Given the description of an element on the screen output the (x, y) to click on. 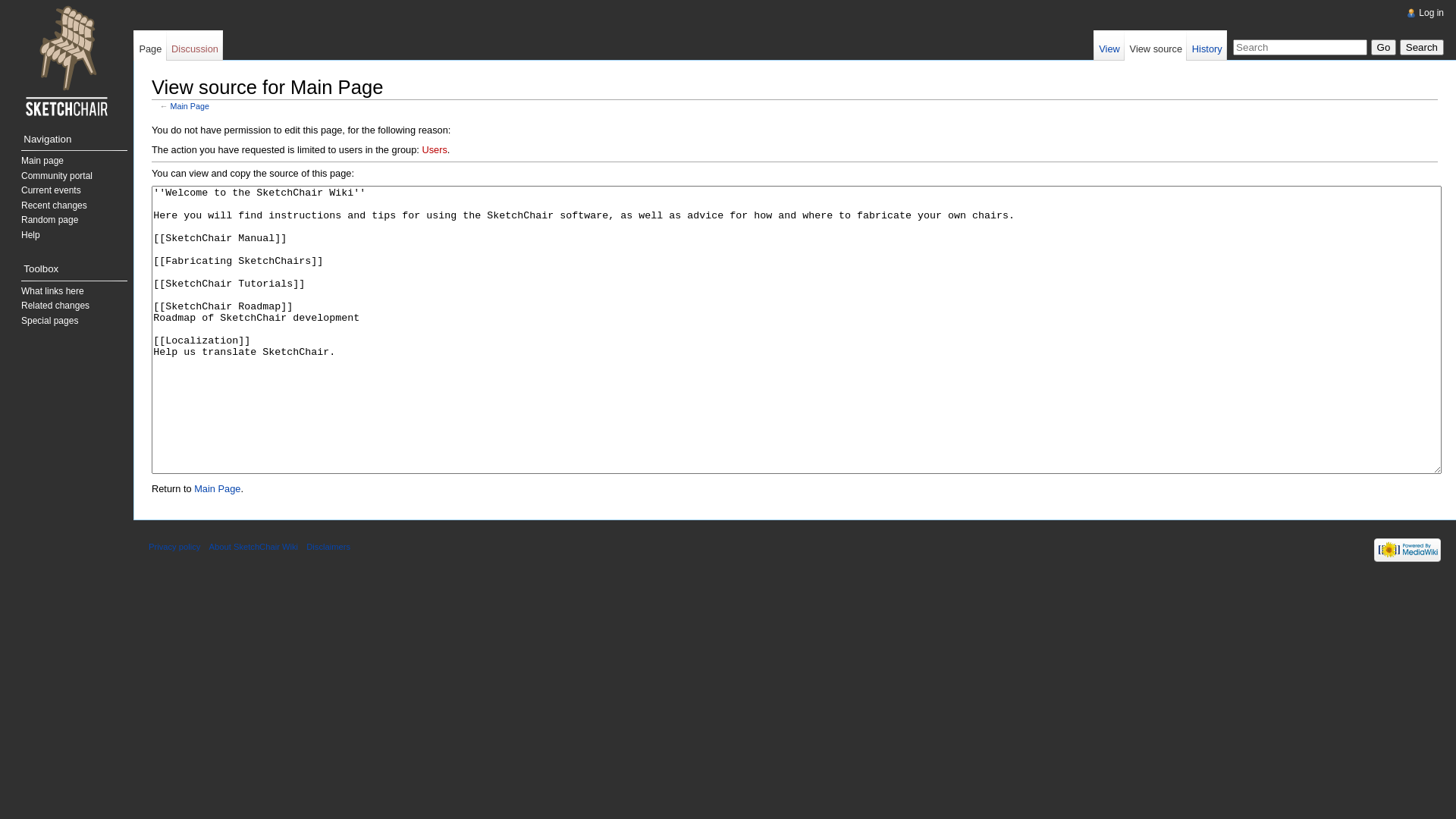
Main page Element type: text (42, 160)
Discussion Element type: text (194, 45)
Go to a page with this exact name if exists Element type: hover (1383, 47)
Main Page Element type: text (188, 105)
About SketchChair Wiki Element type: text (253, 546)
Special pages Element type: text (49, 320)
View Element type: text (1109, 45)
History Element type: text (1206, 45)
Privacy policy Element type: text (174, 546)
Page Element type: text (150, 45)
Random page Element type: text (49, 219)
What links here Element type: text (52, 290)
Disclaimers Element type: text (328, 546)
go back to SketchChair home page. Element type: hover (66, 60)
Search Element type: text (1421, 47)
Log in Element type: text (1430, 12)
Recent changes Element type: text (54, 205)
Go Element type: text (1383, 47)
Search SketchChair Wiki [alt-f] Element type: hover (1300, 47)
Users Element type: text (433, 149)
Search the pages for this text Element type: hover (1421, 47)
View source Element type: text (1155, 45)
Related changes Element type: text (55, 305)
Community portal Element type: text (56, 175)
Main Page Element type: text (217, 488)
Help Element type: text (30, 234)
Current events Element type: text (51, 190)
